Given the description of an element on the screen output the (x, y) to click on. 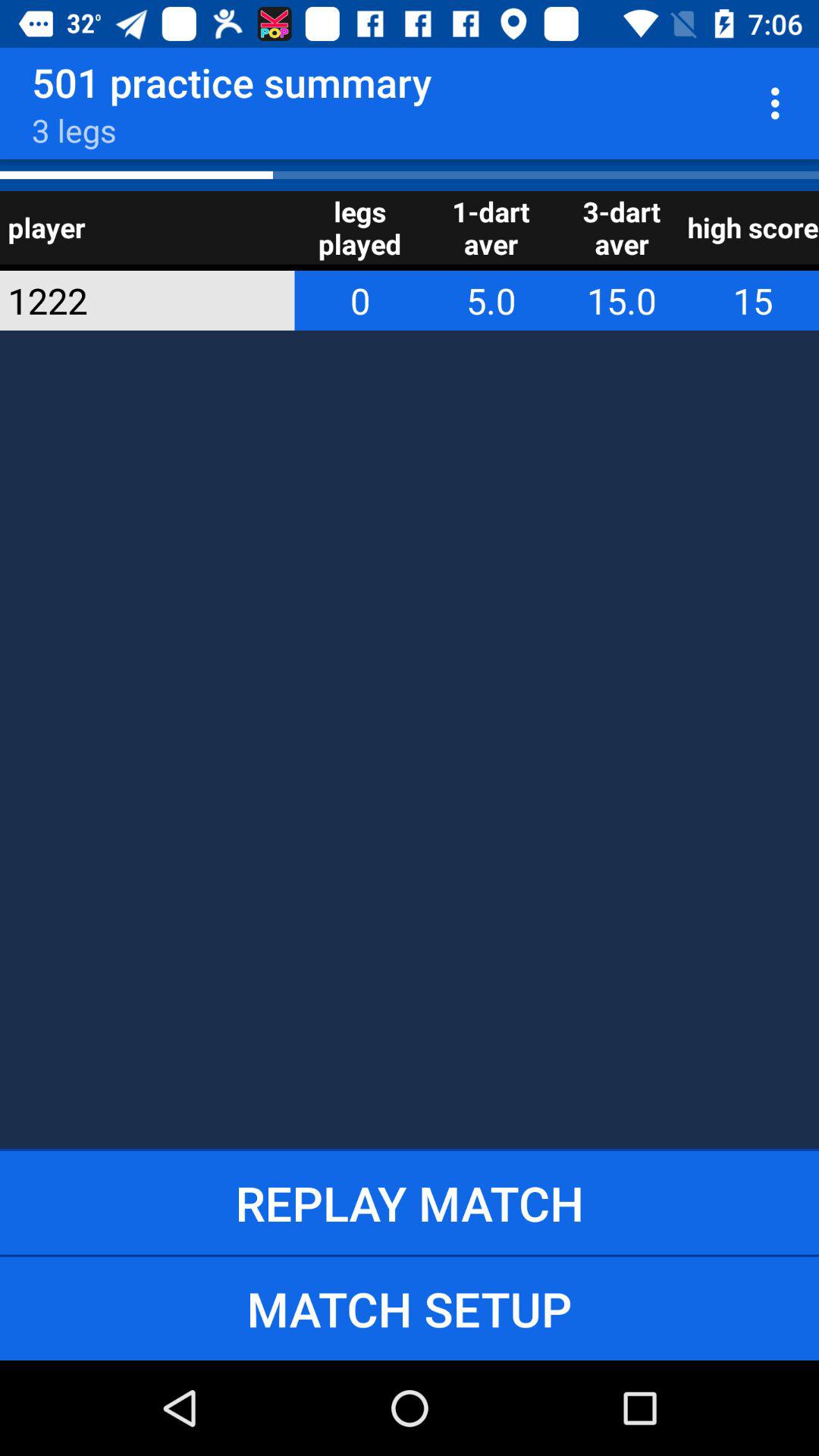
scroll until match setup (409, 1308)
